Given the description of an element on the screen output the (x, y) to click on. 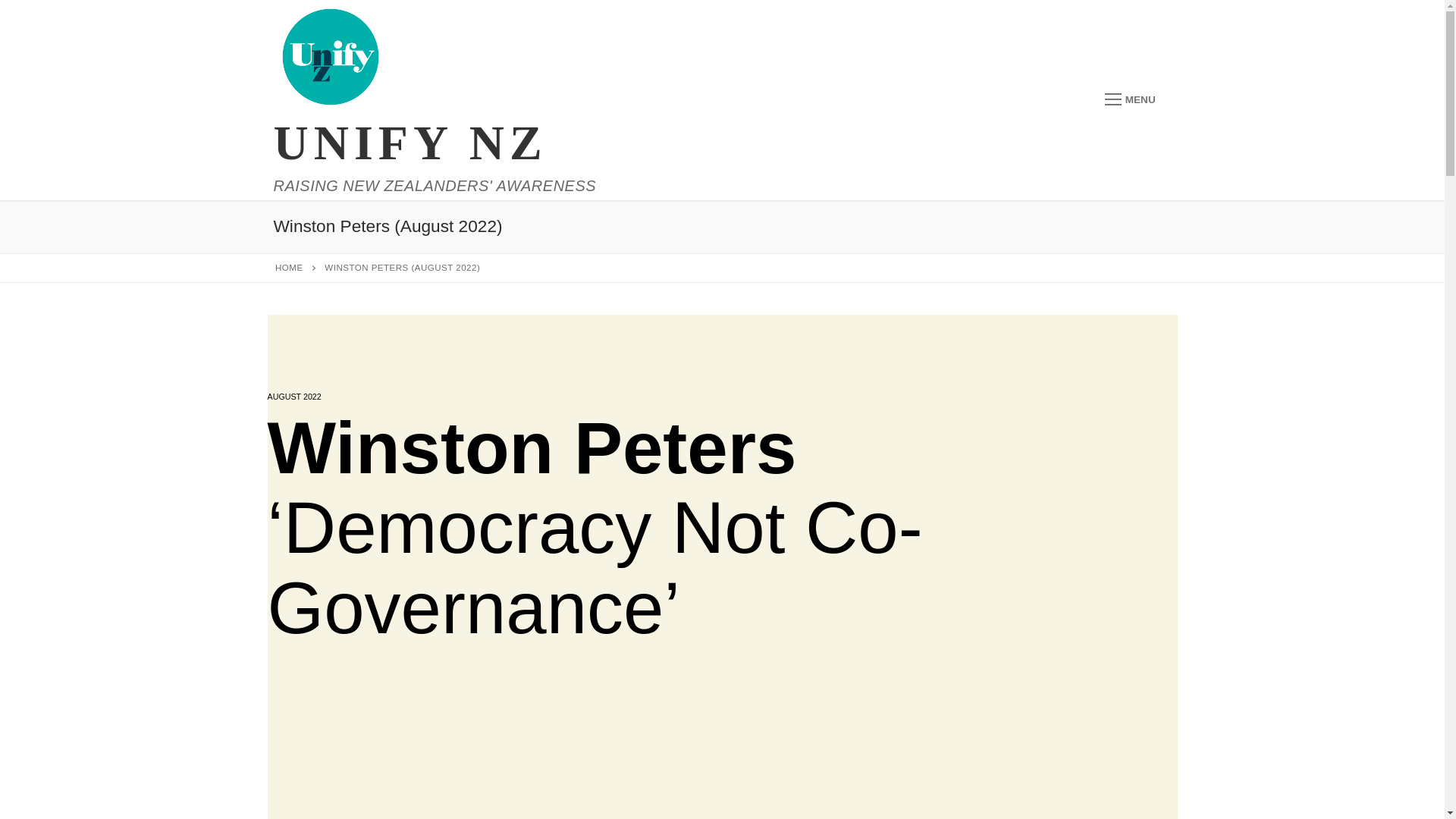
MENU (1129, 100)
HOME (288, 266)
UNIFY NZ (410, 142)
